Given the description of an element on the screen output the (x, y) to click on. 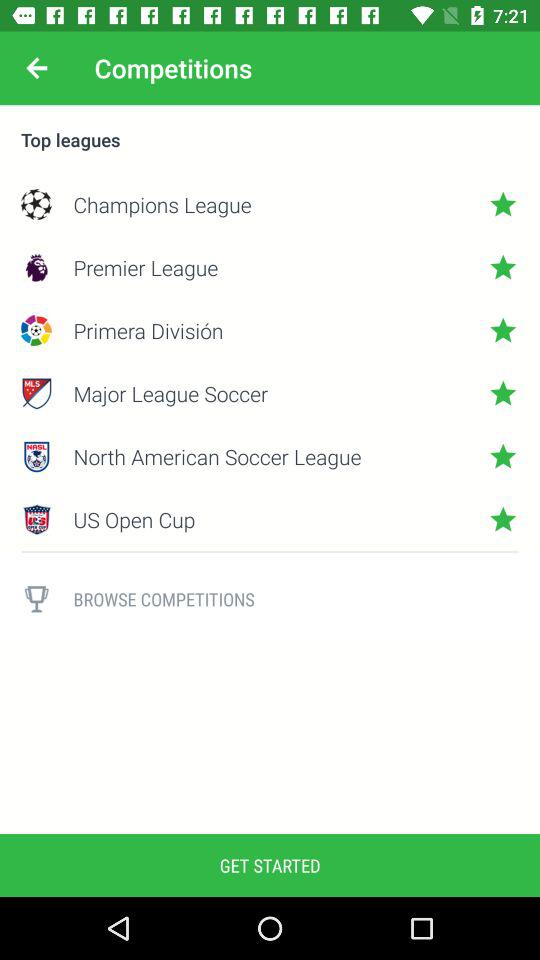
choose item above get started icon (36, 599)
